Given the description of an element on the screen output the (x, y) to click on. 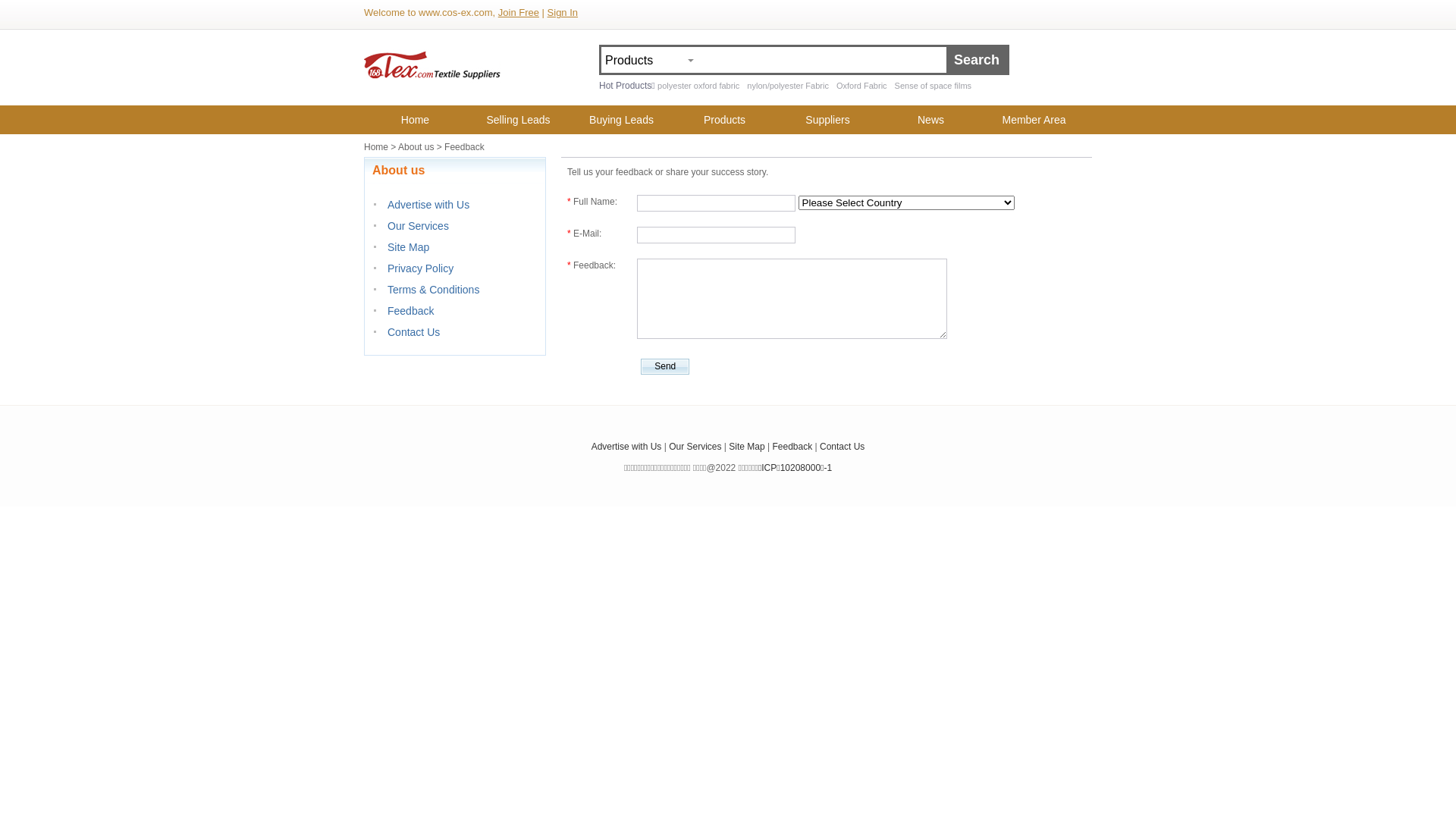
Contact Us Element type: text (413, 332)
Send Element type: text (664, 366)
polyester oxford fabric Element type: text (698, 85)
Privacy Policy Element type: text (420, 268)
Advertise with Us Element type: text (428, 204)
Home Element type: text (415, 119)
Selling Leads Element type: text (518, 119)
Sign In Element type: text (562, 12)
About us Element type: text (415, 146)
Products Element type: text (724, 119)
Buying Leads Element type: text (621, 119)
News Element type: text (930, 119)
Feedback Element type: text (410, 310)
Home Element type: text (376, 146)
Feedback Element type: text (792, 446)
Join Free Element type: text (518, 12)
Advertise with Us Element type: text (626, 446)
Sense of space films Element type: text (933, 85)
nylon/polyester Fabric Element type: text (787, 85)
Site Map Element type: text (746, 446)
Suppliers Element type: text (827, 119)
Member Area Element type: text (1033, 119)
Contact Us Element type: text (841, 446)
Oxford Fabric Element type: text (861, 85)
Terms & Conditions Element type: text (433, 289)
Our Services Element type: text (694, 446)
Search Element type: text (976, 59)
Our Services Element type: text (417, 225)
Site Map Element type: text (408, 247)
